Given the description of an element on the screen output the (x, y) to click on. 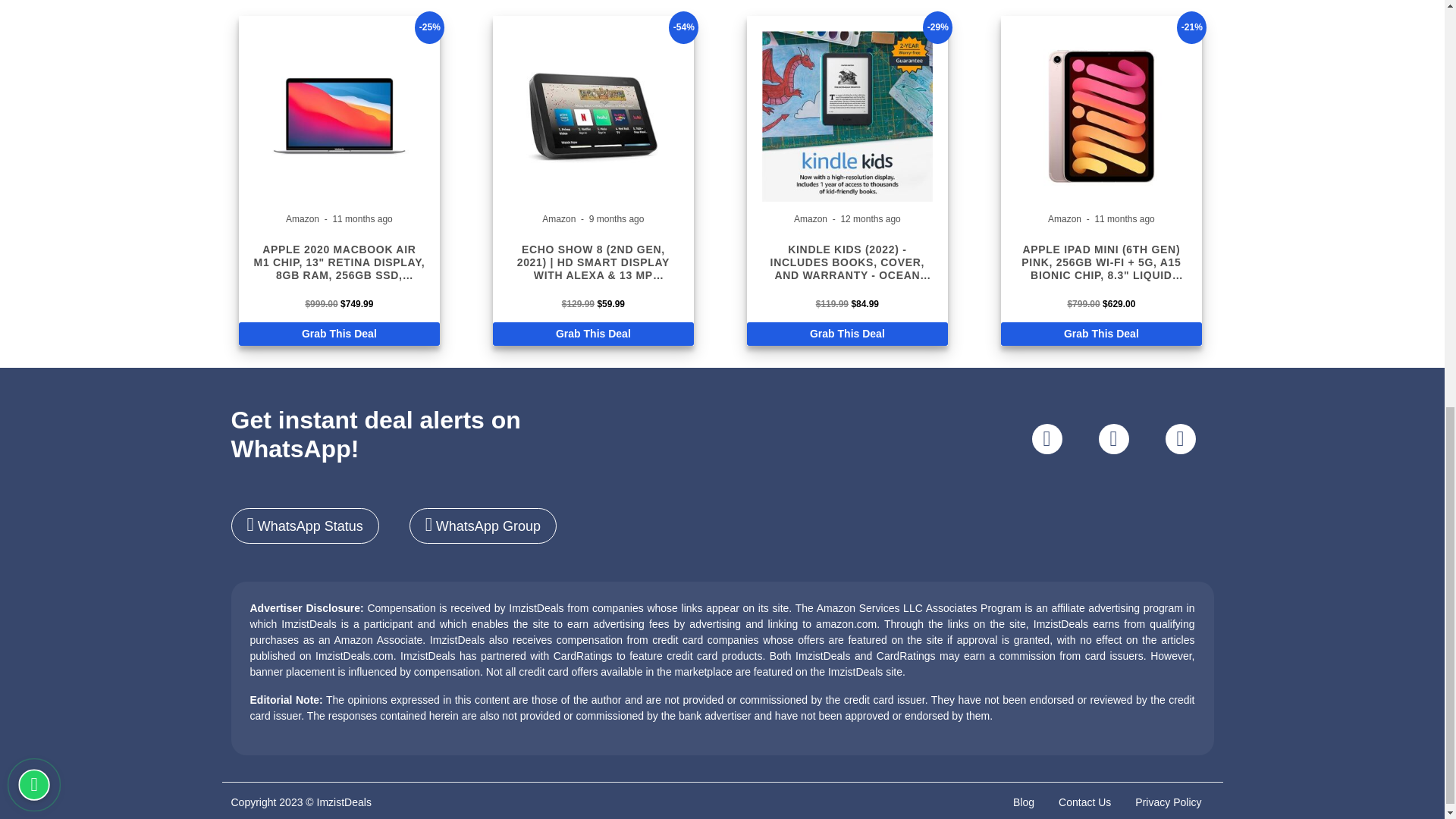
Follow on Telegram (1179, 439)
Follow on Instagram (1045, 439)
Follow on Twitter (1112, 439)
